Given the description of an element on the screen output the (x, y) to click on. 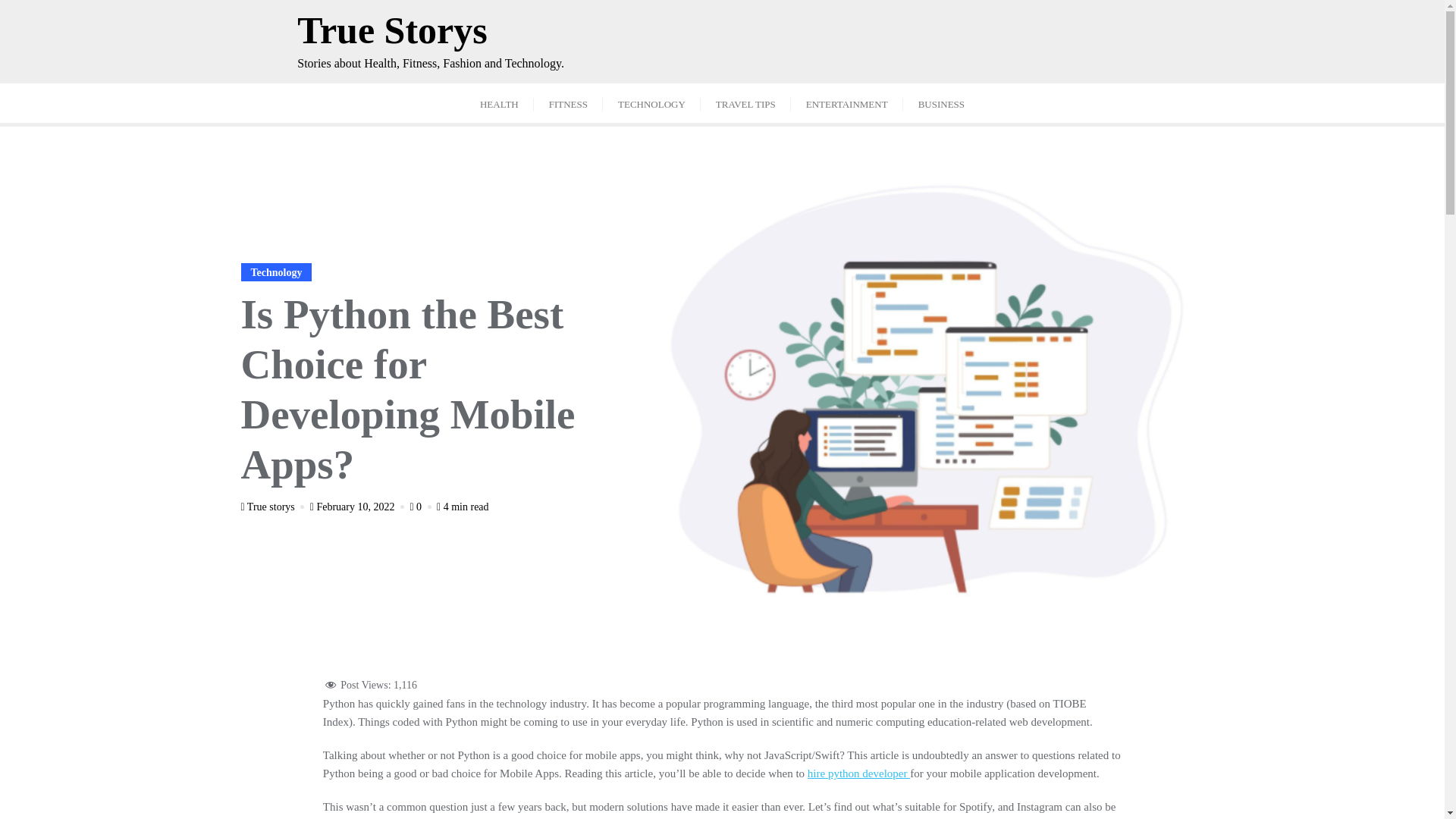
FITNESS (568, 102)
Technology (277, 271)
True storys (274, 506)
February 10, 2022 (358, 506)
ENTERTAINMENT (846, 102)
HEALTH (499, 102)
TECHNOLOGY (651, 102)
TRAVEL TIPS (745, 102)
hire python developer (859, 773)
BUSINESS (940, 102)
